Given the description of an element on the screen output the (x, y) to click on. 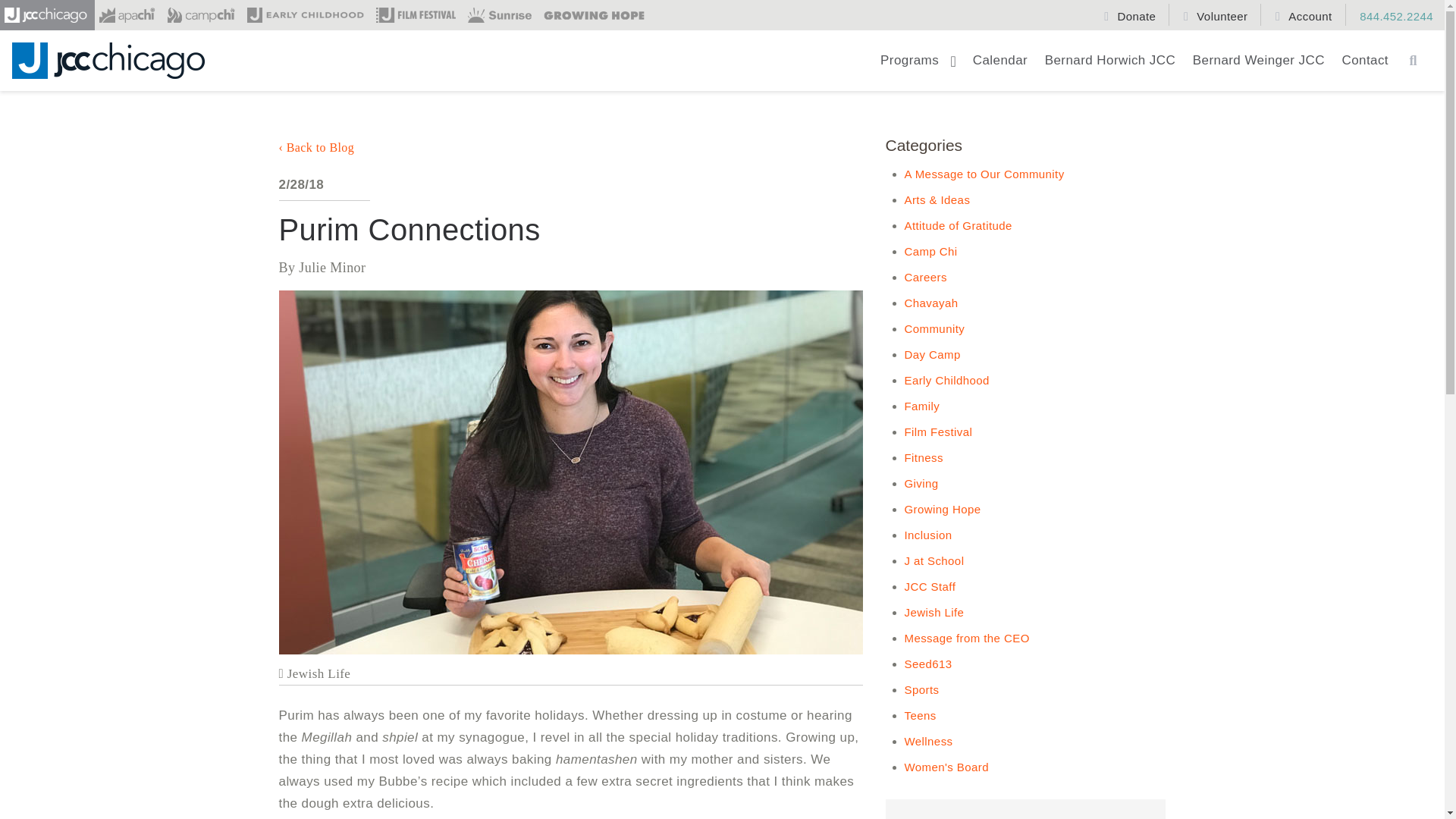
Skip to Main Content (84, 24)
Account (1305, 14)
844.452.2244 (1390, 14)
Donate (1131, 14)
Volunteer (1217, 14)
Programs (917, 67)
